Given the description of an element on the screen output the (x, y) to click on. 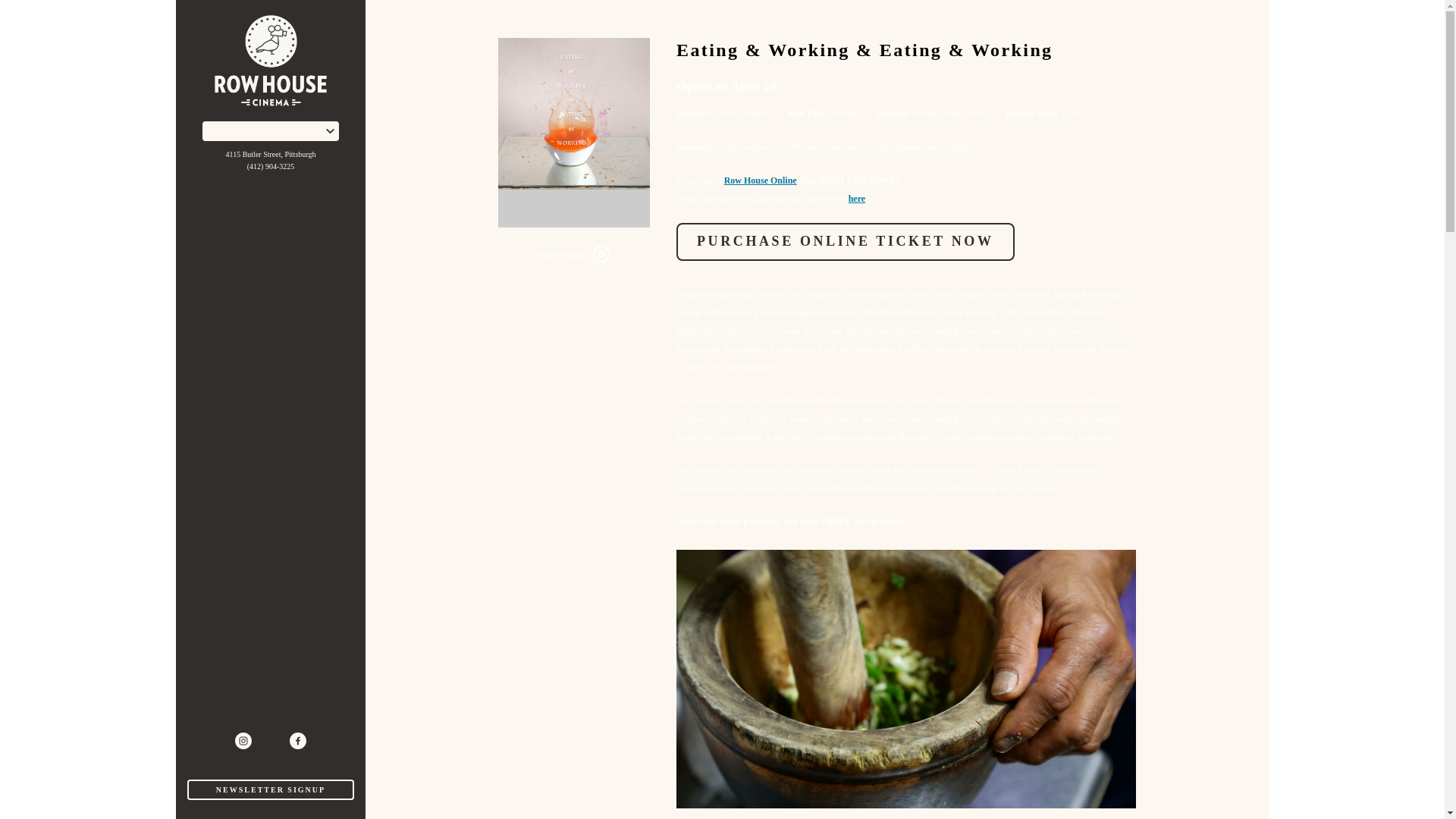
Row House Online (759, 180)
instagram (242, 740)
Watch trailer (573, 254)
4115 Butler Street, Pittsburgh (270, 154)
PURCHASE ONLINE TICKET NOW (845, 241)
facebook (297, 740)
here (856, 198)
twitter (270, 740)
NEWSLETTER SIGNUP (270, 789)
